Given the description of an element on the screen output the (x, y) to click on. 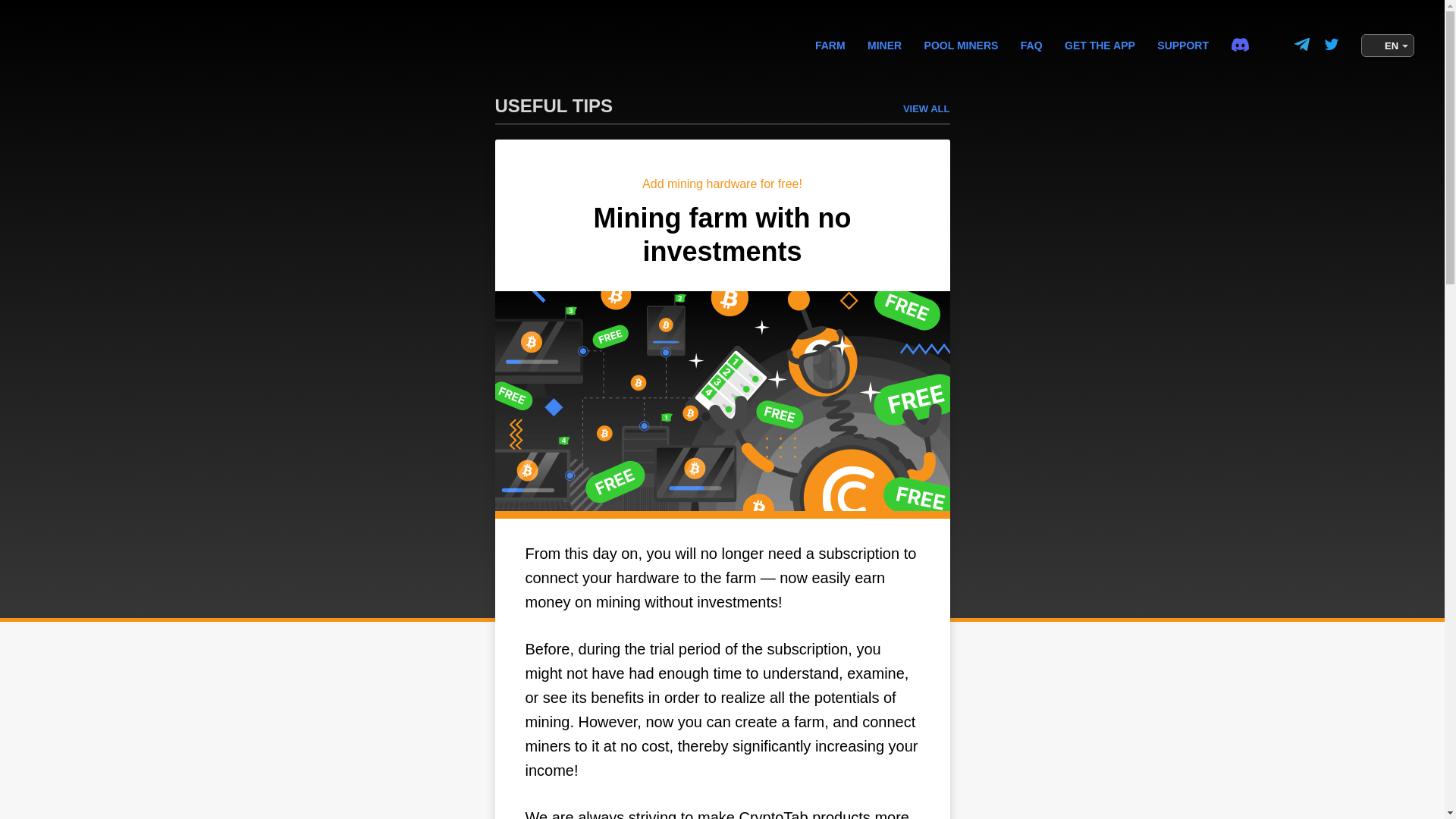
FAQ (1031, 45)
MINER (884, 45)
SUPPORT (1182, 45)
POOL MINERS (722, 109)
FARM (961, 45)
GET THE APP (830, 45)
